Given the description of an element on the screen output the (x, y) to click on. 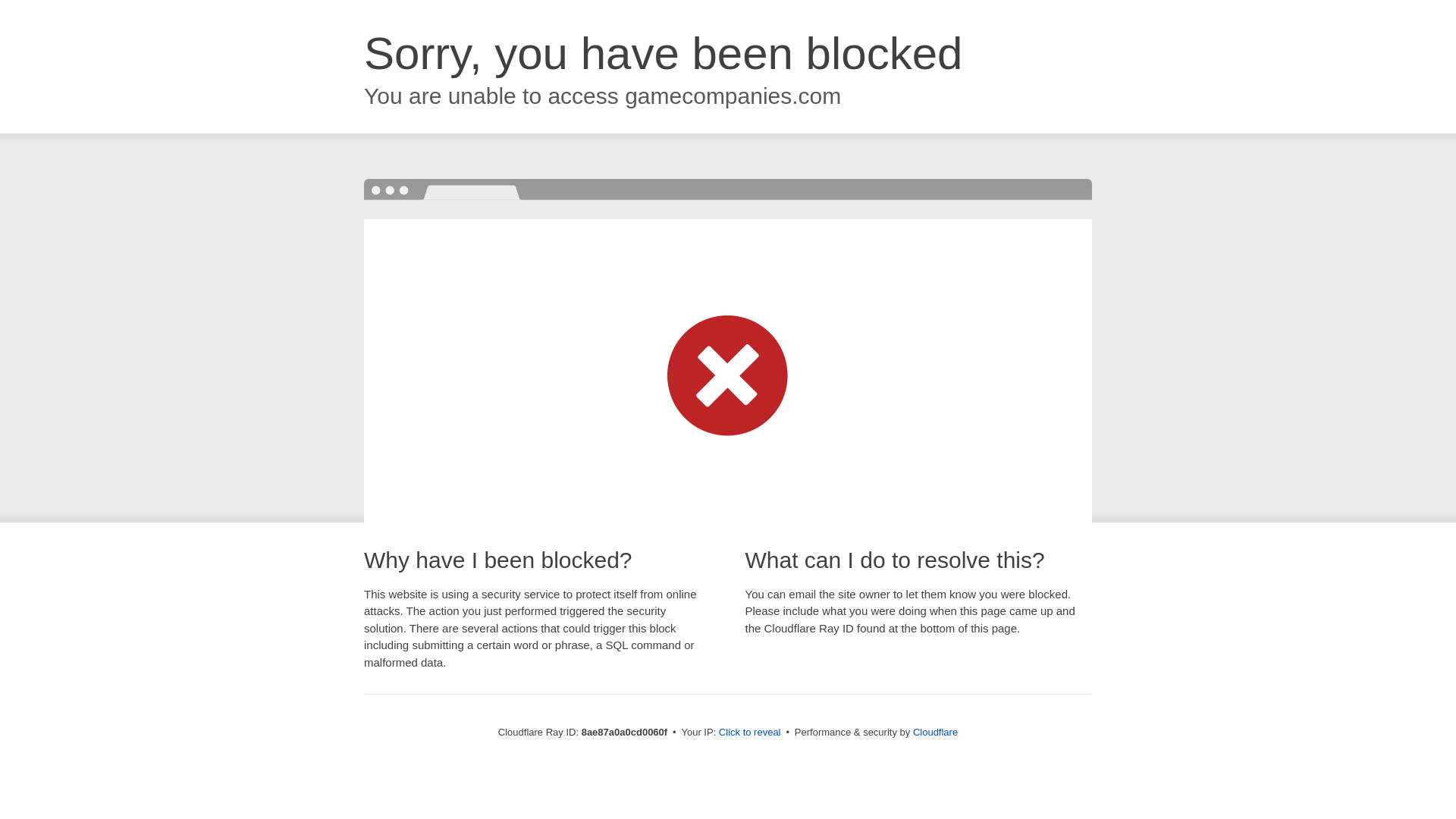
Cloudflare (935, 731)
Click to reveal (749, 732)
